Given the description of an element on the screen output the (x, y) to click on. 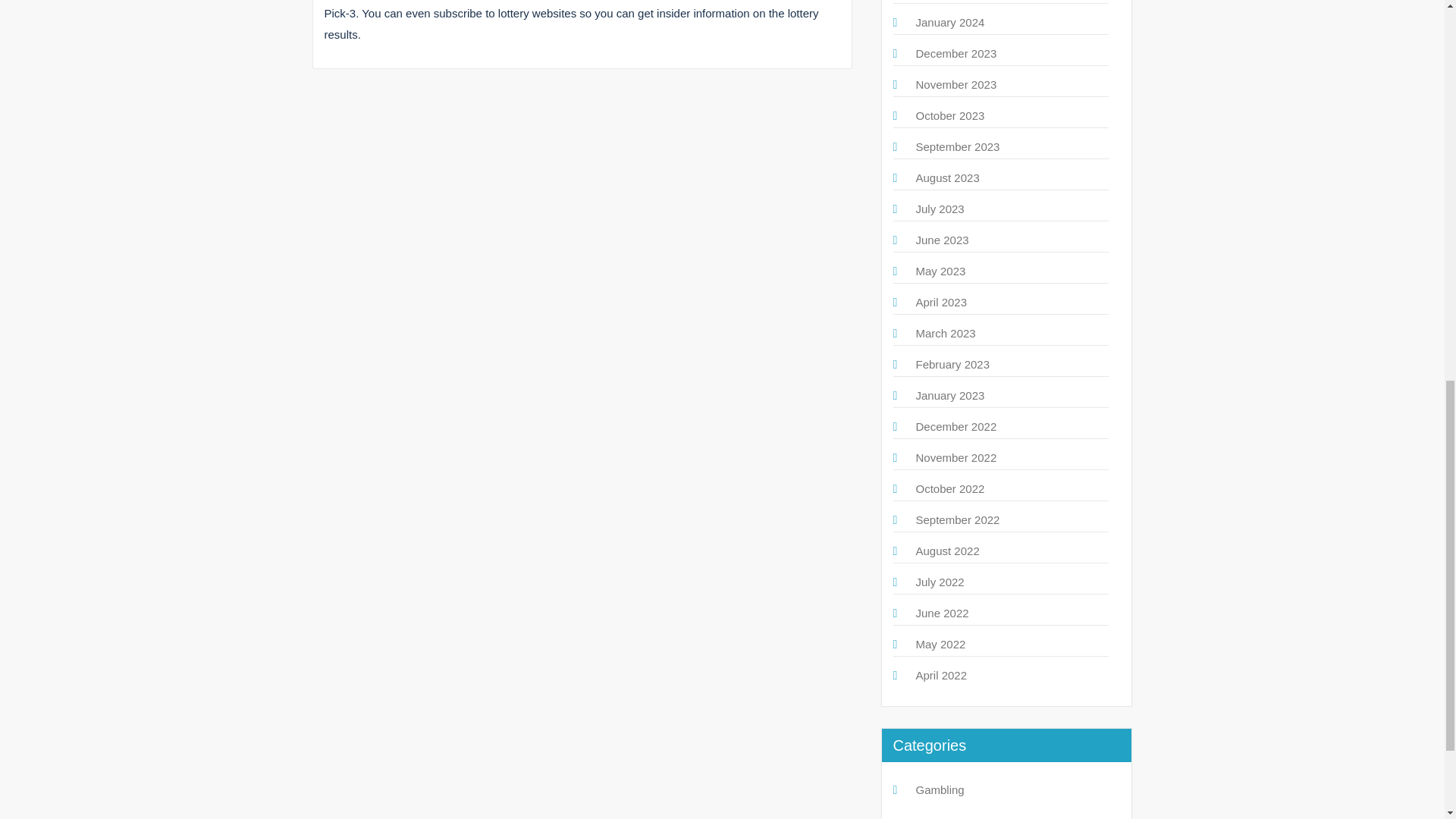
July 2022 (939, 581)
August 2022 (947, 550)
January 2024 (950, 21)
April 2023 (941, 301)
July 2023 (939, 208)
November 2022 (956, 457)
August 2023 (947, 177)
October 2022 (950, 488)
June 2022 (942, 612)
April 2022 (941, 675)
December 2022 (956, 426)
September 2023 (957, 146)
January 2023 (950, 395)
May 2023 (940, 270)
June 2023 (942, 239)
